Given the description of an element on the screen output the (x, y) to click on. 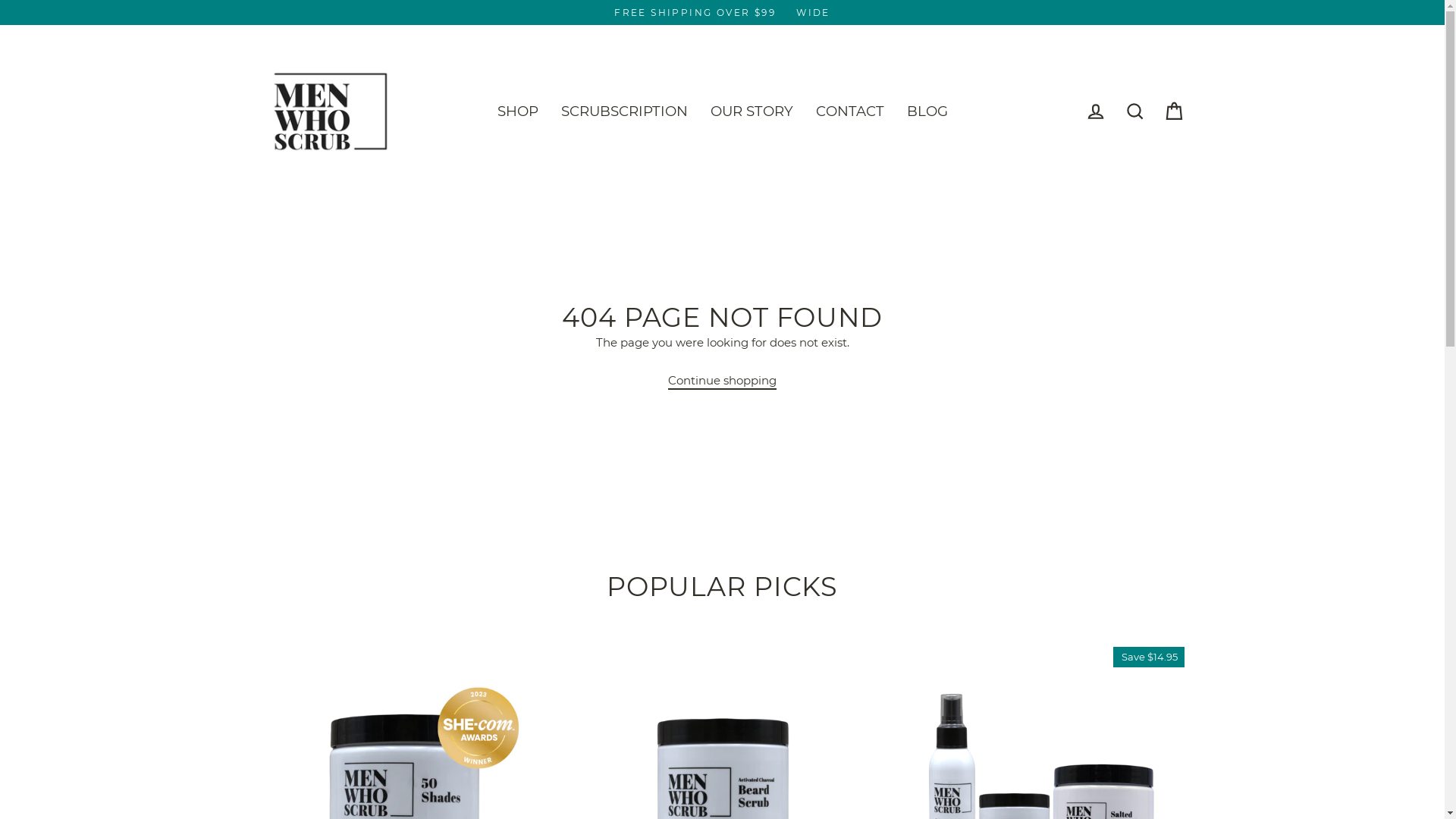
SCRUBSCRIPTION Element type: text (623, 111)
Skip to content Element type: text (0, 0)
OUR STORY Element type: text (751, 111)
Cart Element type: text (1173, 110)
Log in Element type: text (1094, 110)
Search Element type: text (1134, 110)
SHOP Element type: text (517, 111)
CONTACT Element type: text (848, 111)
BLOG Element type: text (926, 111)
Continue shopping Element type: text (722, 380)
